Given the description of an element on the screen output the (x, y) to click on. 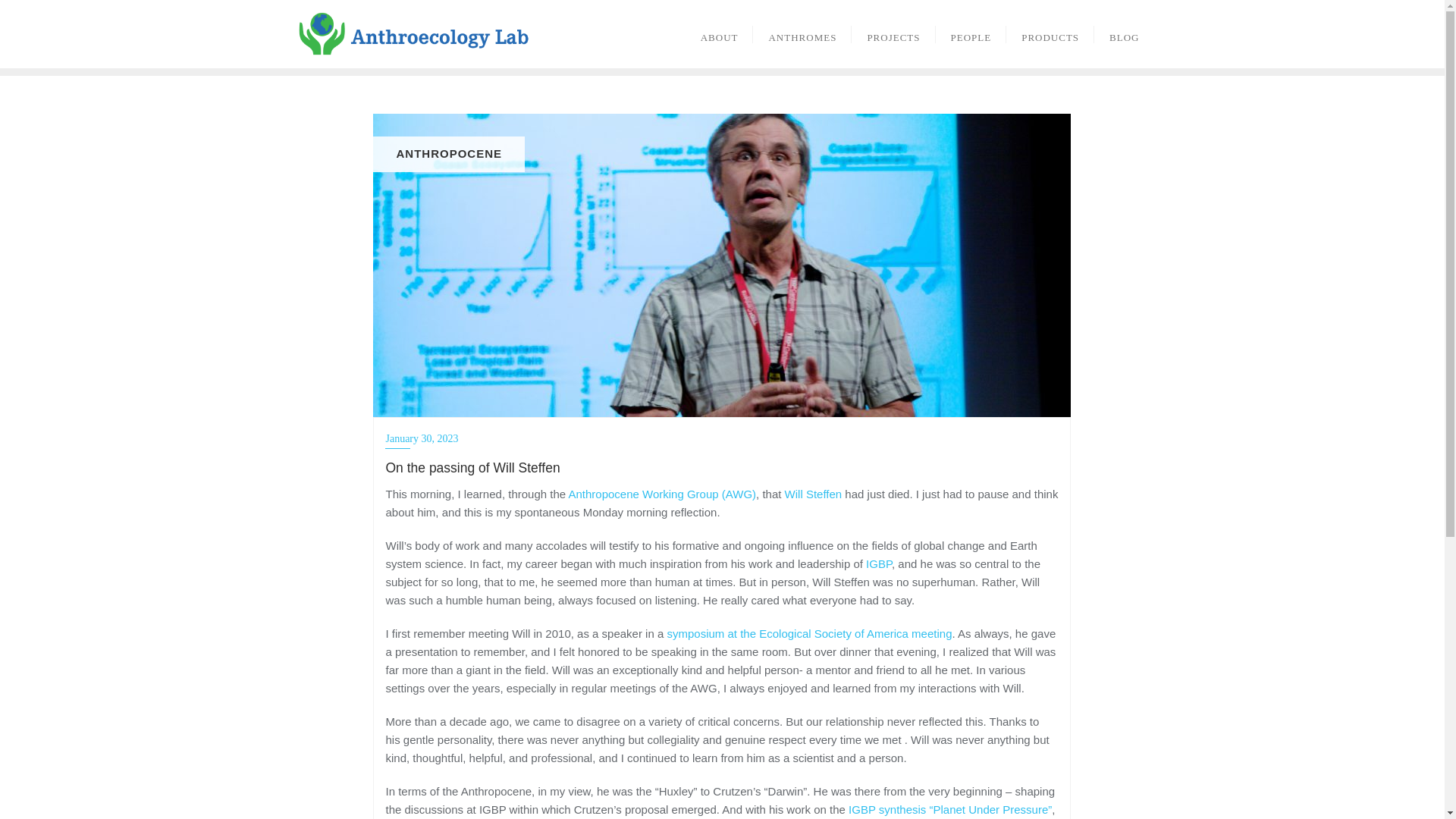
IGBP (878, 563)
PEOPLE (971, 33)
PRODUCTS (1050, 33)
PROJECTS (892, 33)
Will Steffen (813, 493)
ABOUT (719, 33)
January 30, 2023 (721, 438)
symposium at the Ecological Society of America meeting (809, 633)
ANTHROMES (801, 33)
BLOG (1124, 33)
